Given the description of an element on the screen output the (x, y) to click on. 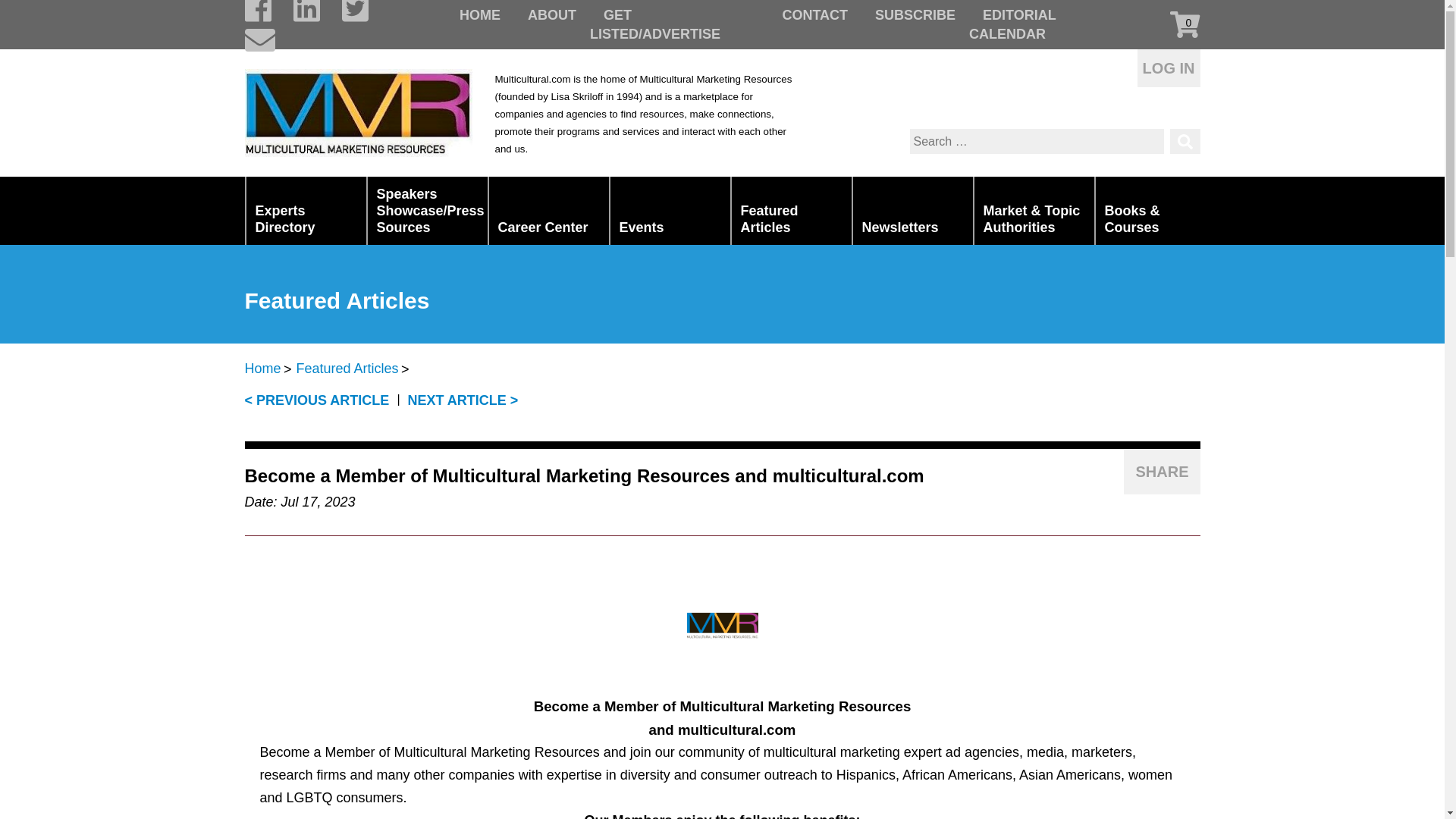
0 (1168, 24)
ABOUT (551, 14)
HOME (480, 14)
Search (1184, 140)
SUBSCRIBE (915, 14)
CONTACT (814, 14)
Search (1184, 140)
Search (1184, 140)
EDITORIAL CALENDAR (1012, 24)
LOG IN (1168, 67)
Experts Directory (304, 210)
